Given the description of an element on the screen output the (x, y) to click on. 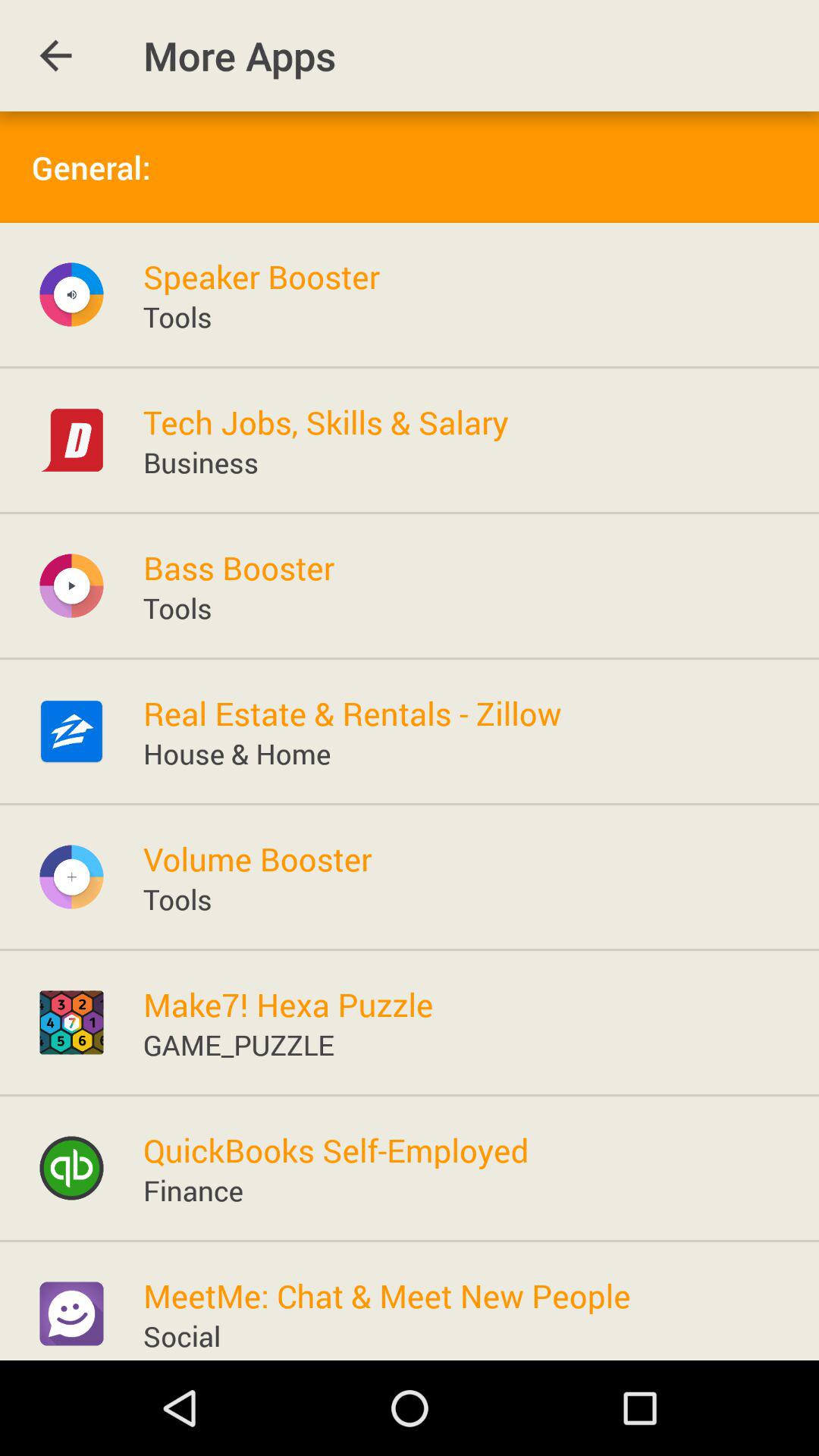
scroll until the meetme chat meet icon (386, 1295)
